Given the description of an element on the screen output the (x, y) to click on. 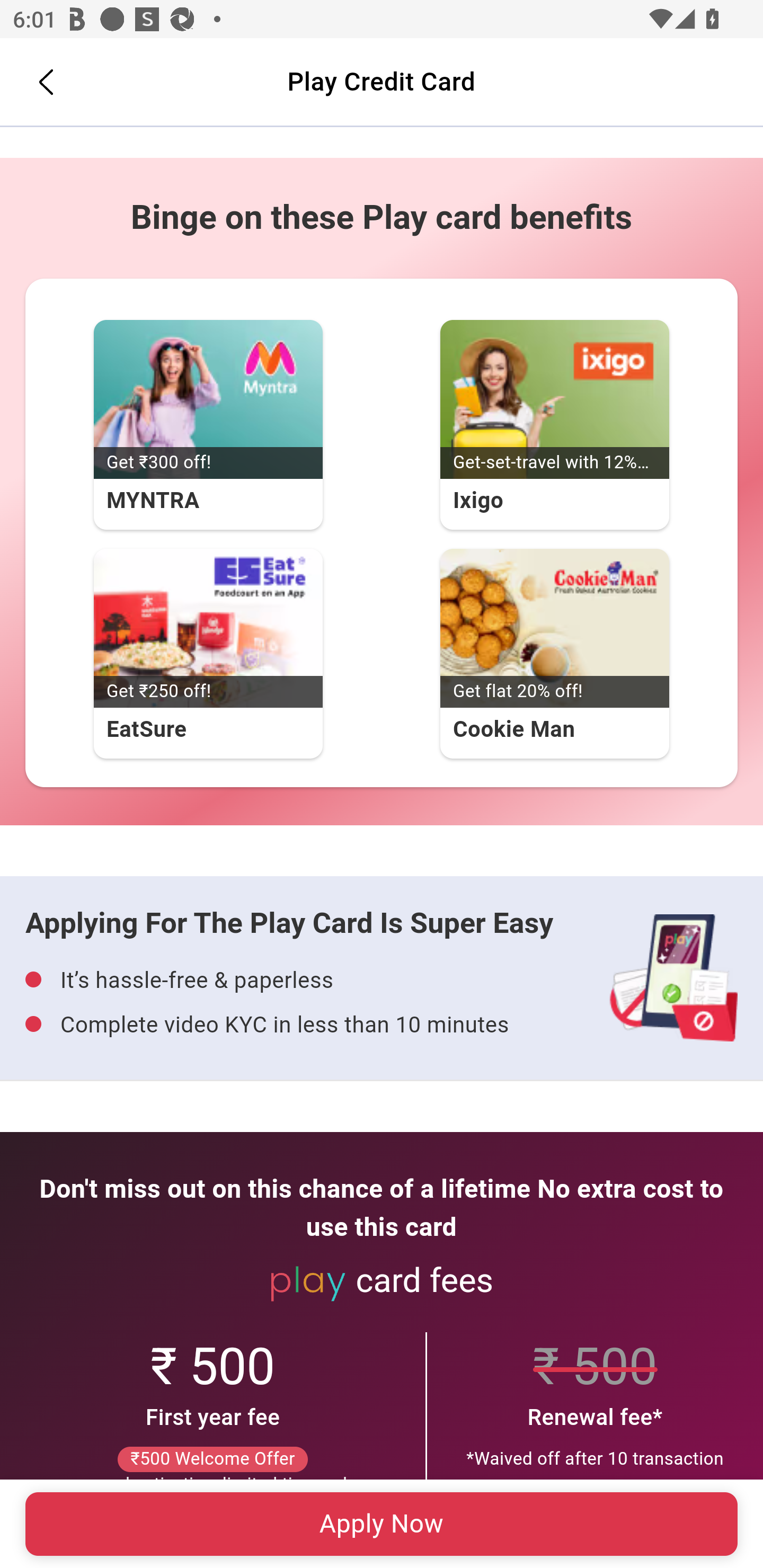
MYNTRA (207, 399)
Ixigo (554, 399)
EatSure (207, 628)
Cookie Man (554, 628)
